Given the description of an element on the screen output the (x, y) to click on. 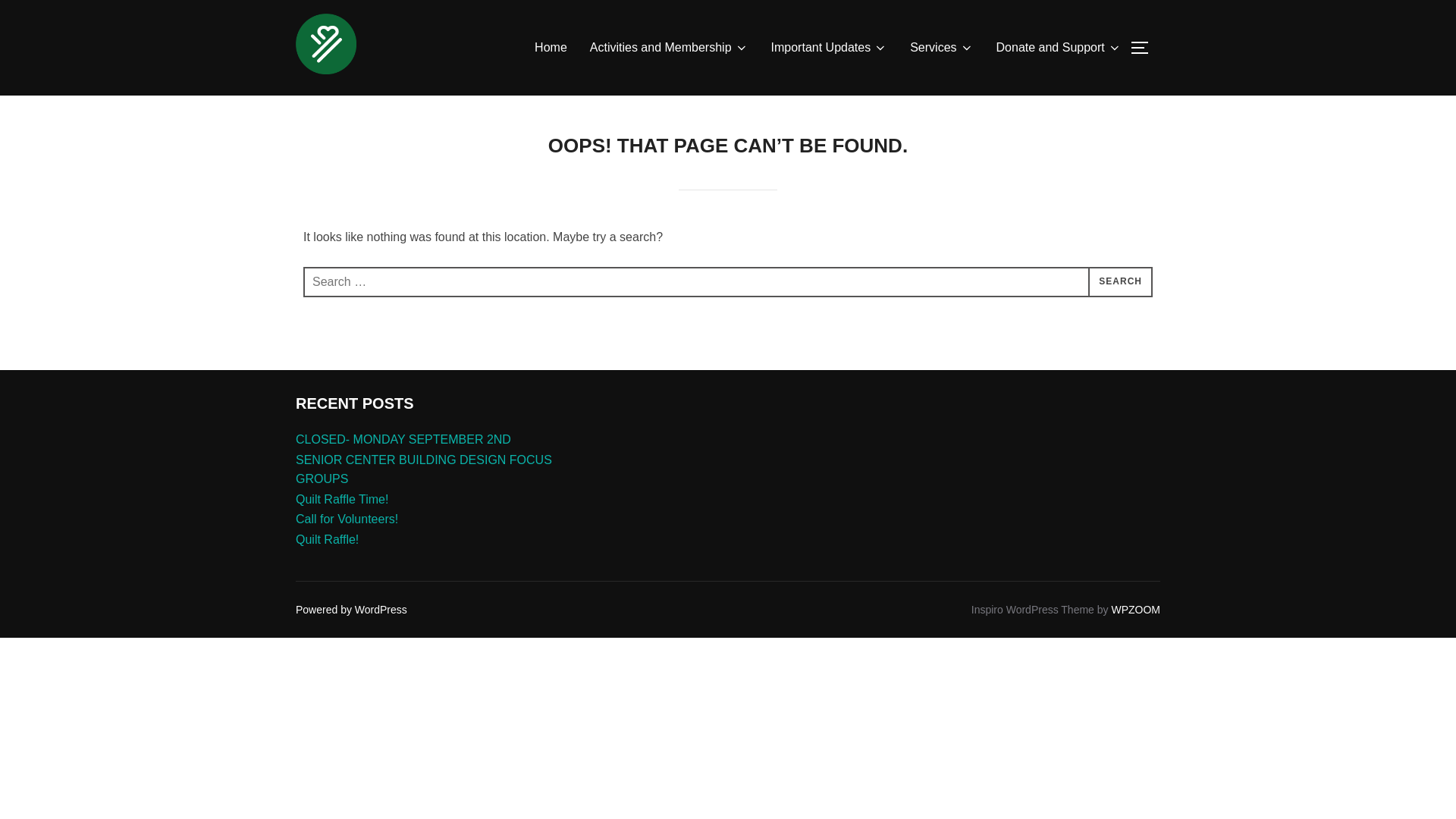
SENIOR CENTER BUILDING DESIGN FOCUS GROUPS (423, 469)
Donate and Support (1058, 47)
Home (550, 47)
Services (941, 47)
SEARCH (1120, 281)
Important Updates (829, 47)
Activities and Membership (668, 47)
Quilt Raffle Time! (341, 499)
CLOSED- MONDAY SEPTEMBER 2ND (403, 439)
